Given the description of an element on the screen output the (x, y) to click on. 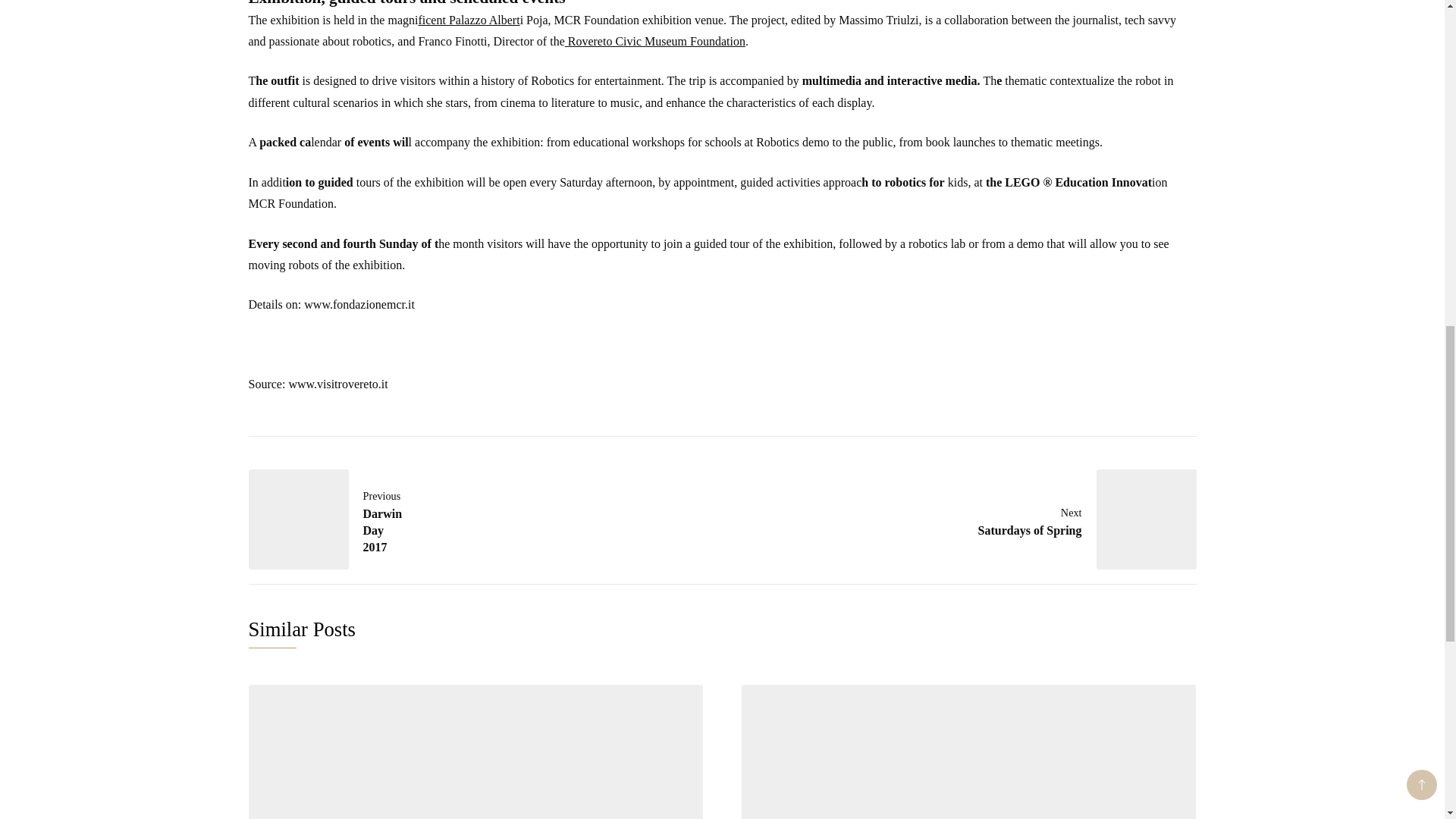
ficent Palazzo Albert (992, 519)
Rovereto Civic Museum Foundation (468, 19)
